Given the description of an element on the screen output the (x, y) to click on. 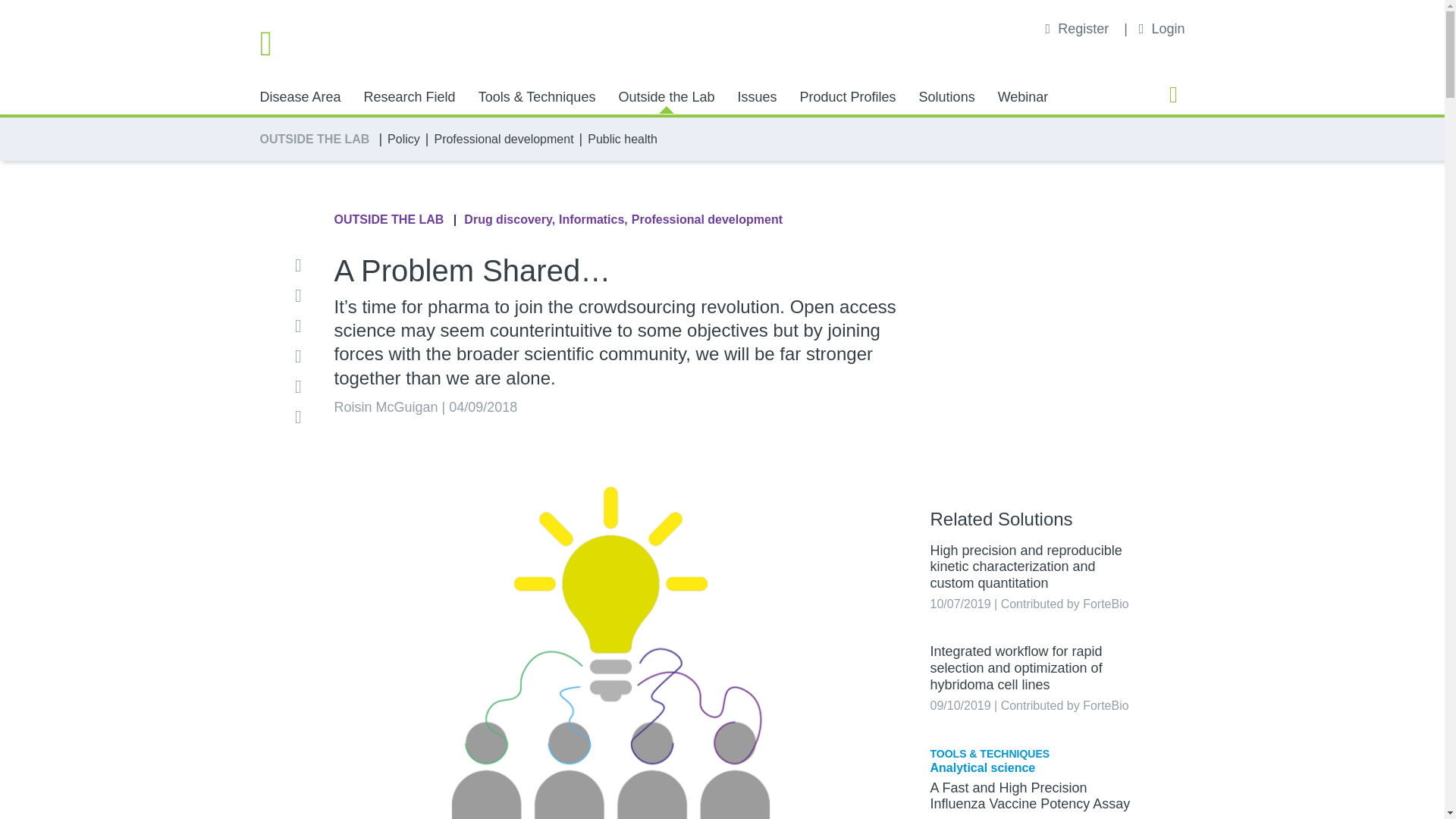
Share this article on Facebook (302, 295)
Research Field (409, 96)
Issues (756, 96)
Disease Area (299, 96)
Share this article by email (302, 264)
Policy (403, 138)
Informatics, (593, 219)
Public health (623, 138)
Product Profiles (847, 96)
Webinar (1022, 96)
Solutions (946, 96)
Register (1079, 28)
Login (1161, 28)
Roisin McGuigan (385, 406)
Professional development (503, 138)
